Given the description of an element on the screen output the (x, y) to click on. 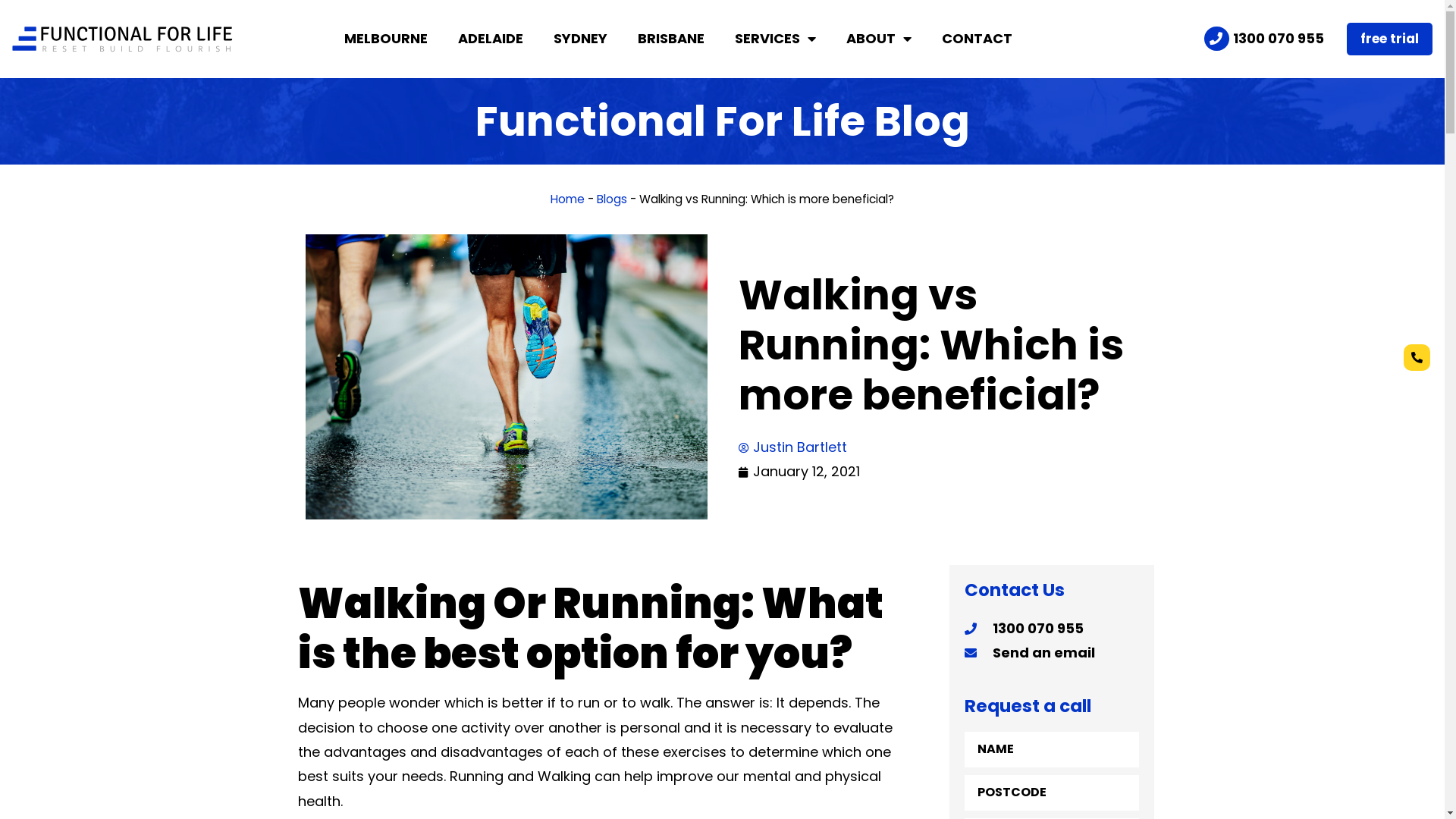
free trial Element type: text (1389, 38)
SYDNEY Element type: text (580, 38)
1300 070 955 Element type: text (1051, 628)
Home Element type: text (567, 199)
Justin Bartlett Element type: text (792, 447)
Send an email Element type: text (1051, 652)
Blogs Element type: text (611, 199)
MELBOURNE Element type: text (385, 38)
CONTACT Element type: text (976, 38)
BRISBANE Element type: text (670, 38)
Functional-For-Life-Logo Element type: hover (121, 38)
ADELAIDE Element type: text (490, 38)
ABOUT Element type: text (878, 38)
1300 070 955 Element type: text (1263, 38)
SERVICES Element type: text (775, 38)
